Given the description of an element on the screen output the (x, y) to click on. 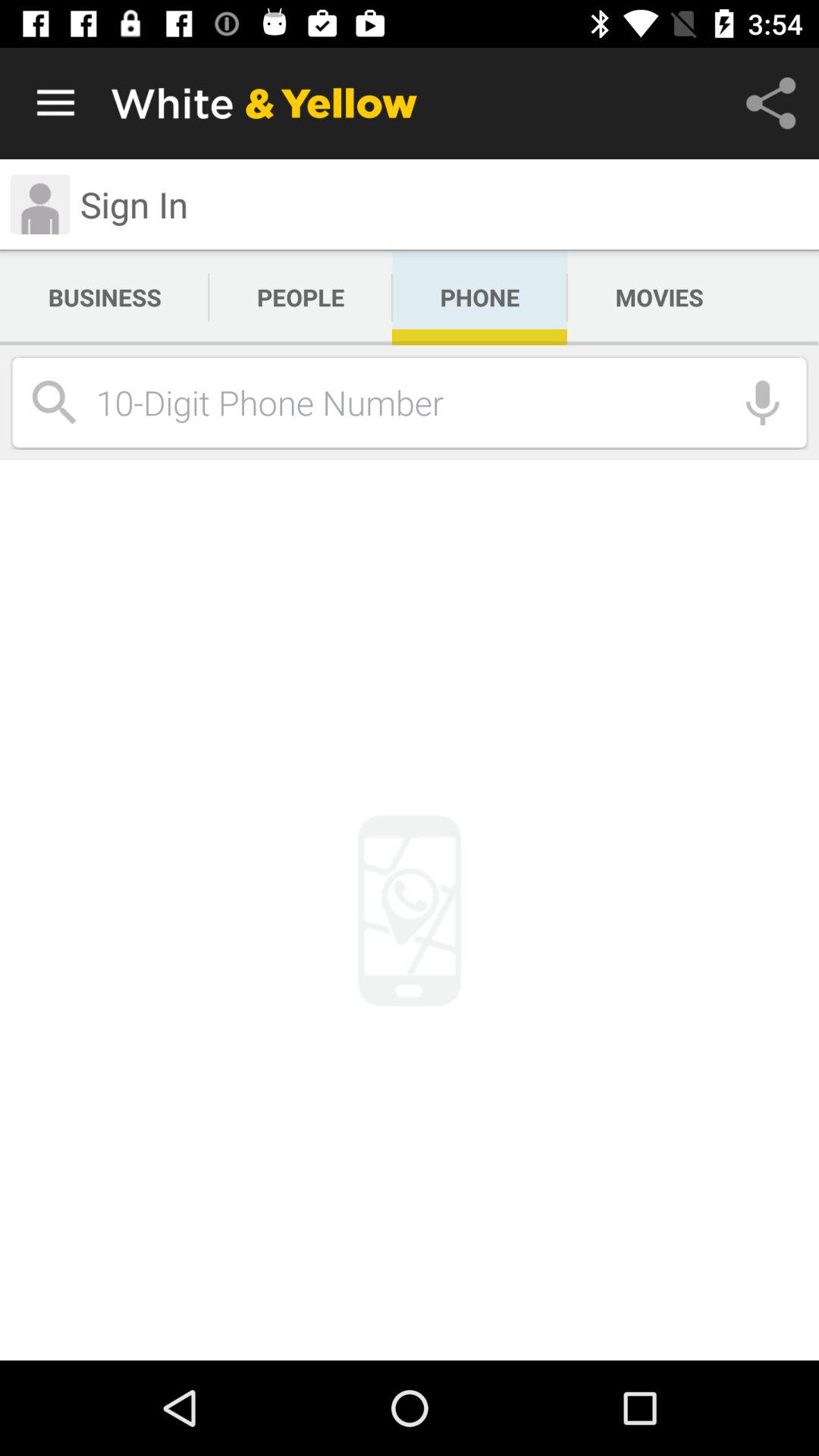
turn off the icon to the left of sign in item (39, 204)
